Given the description of an element on the screen output the (x, y) to click on. 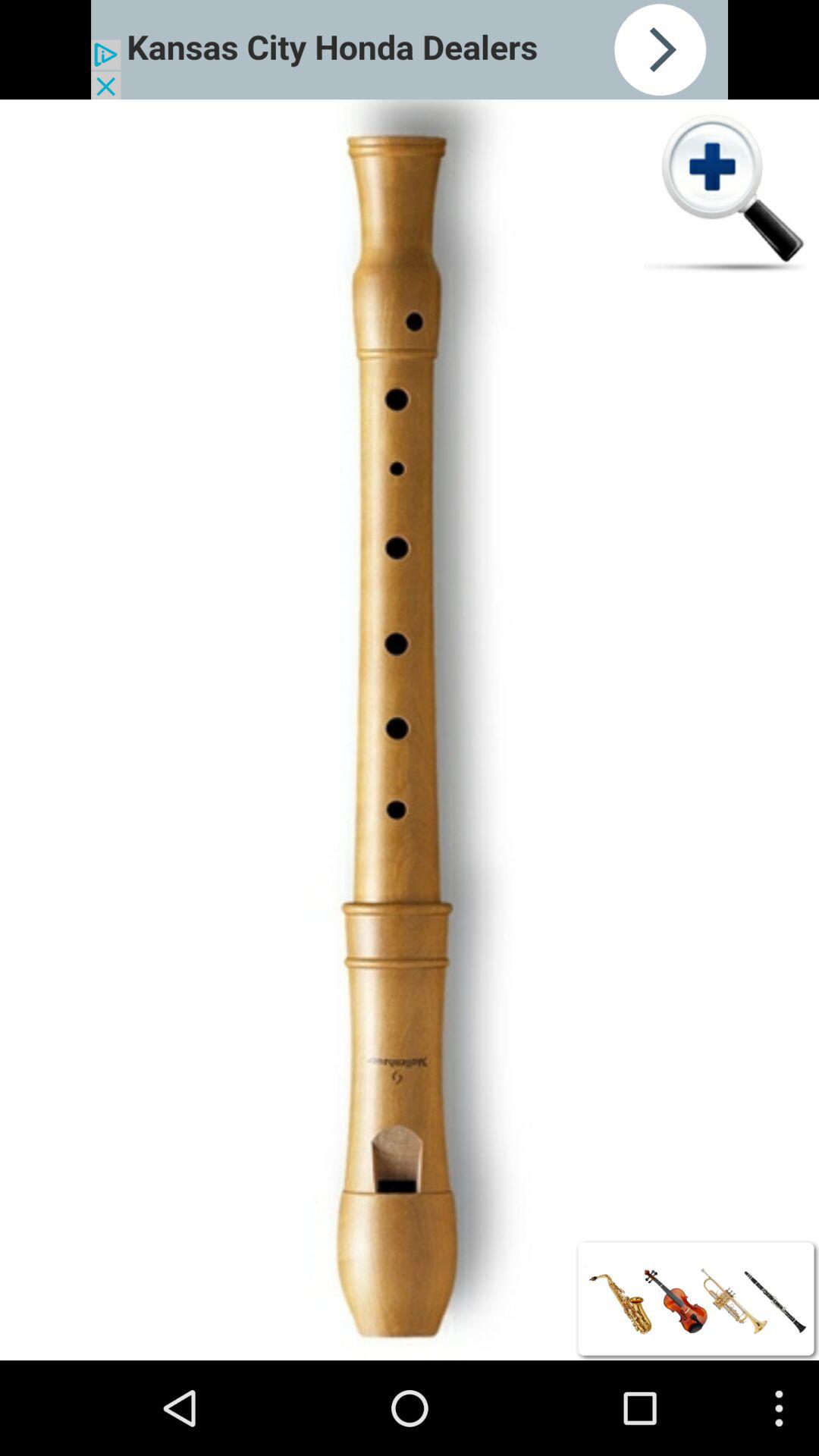
view kansas city honda dealers (409, 49)
